Given the description of an element on the screen output the (x, y) to click on. 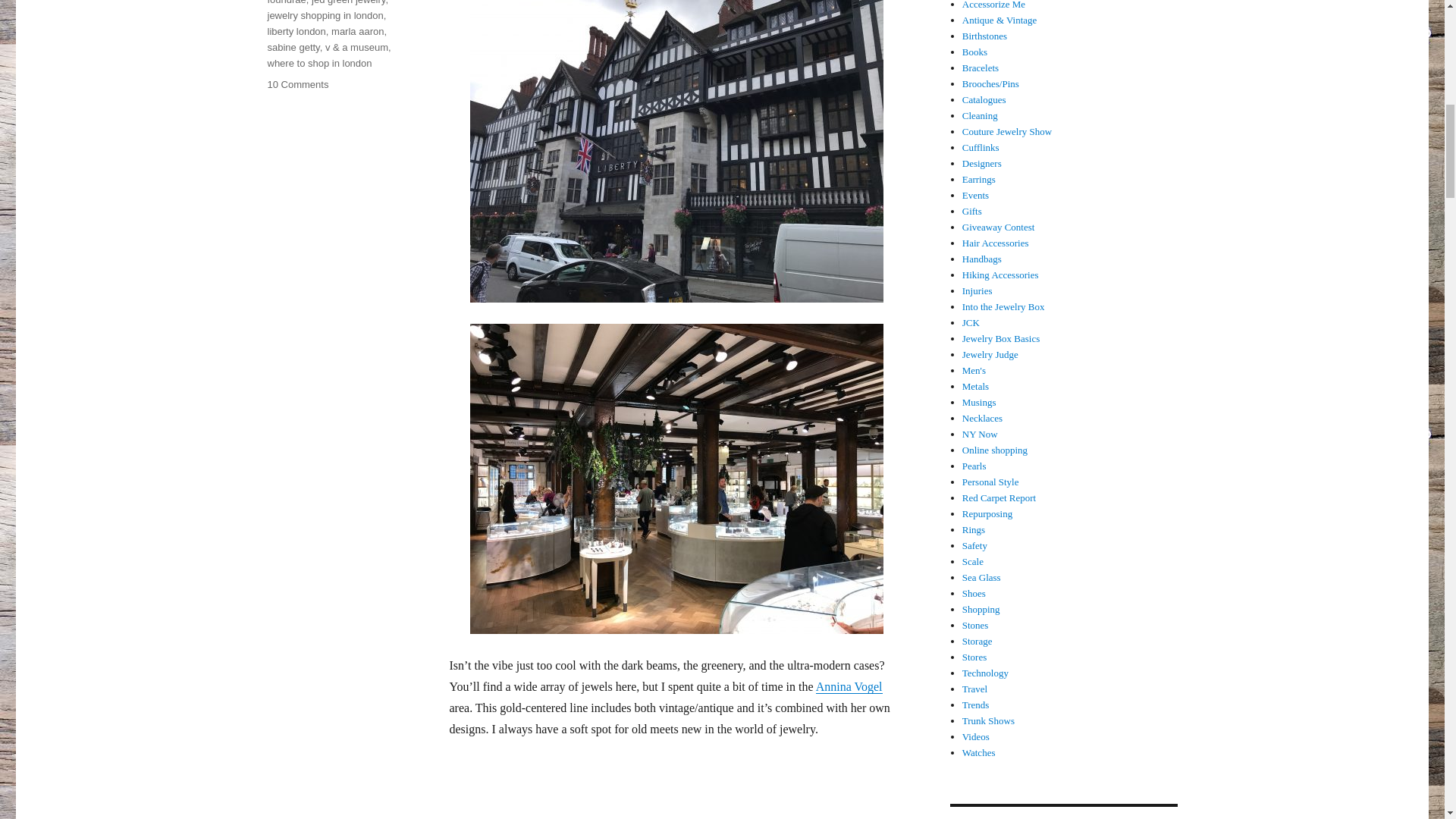
Annina Vogel (848, 686)
